Given the description of an element on the screen output the (x, y) to click on. 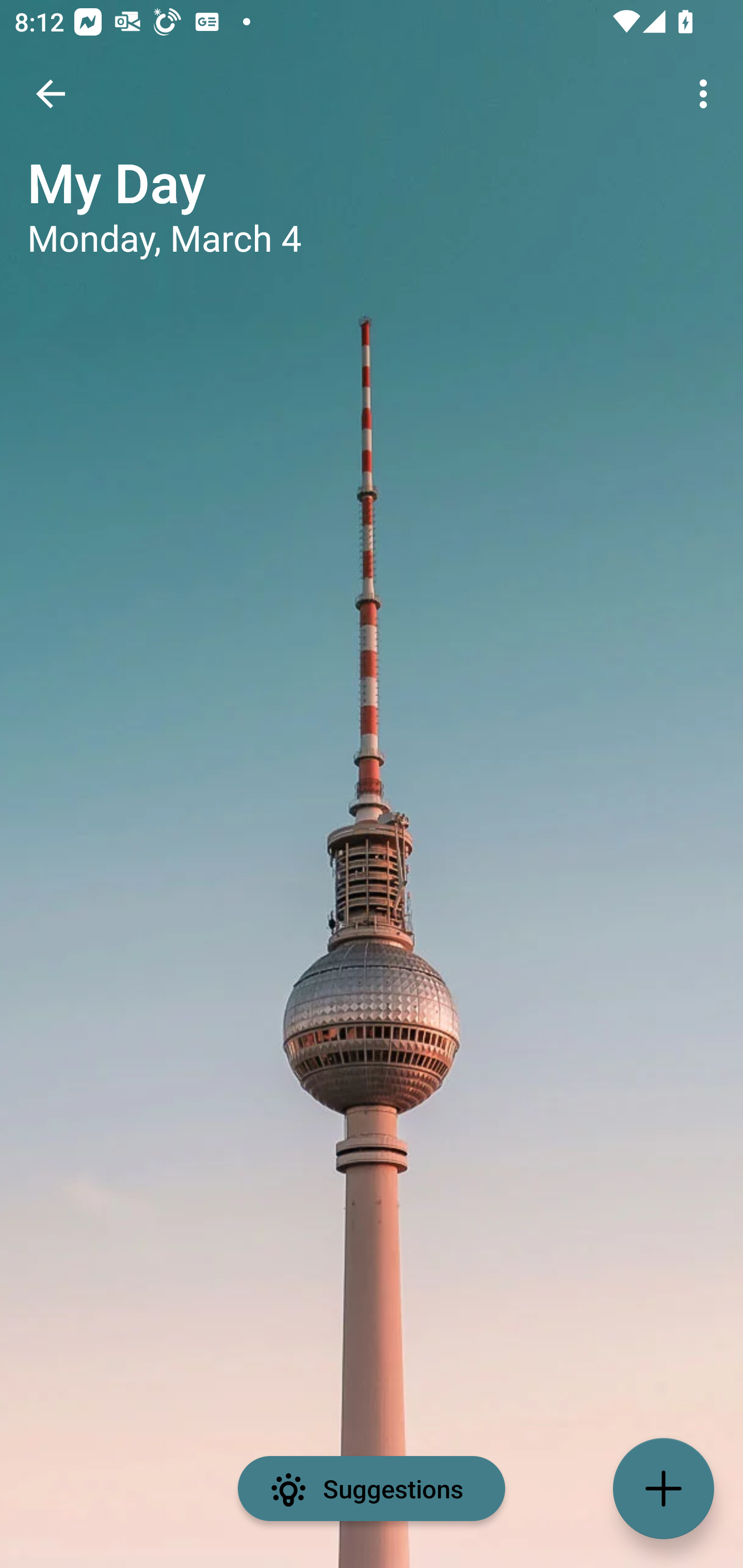
Back (50, 93)
More options (706, 93)
Add a task (663, 1488)
Suggestions (371, 1488)
